Given the description of an element on the screen output the (x, y) to click on. 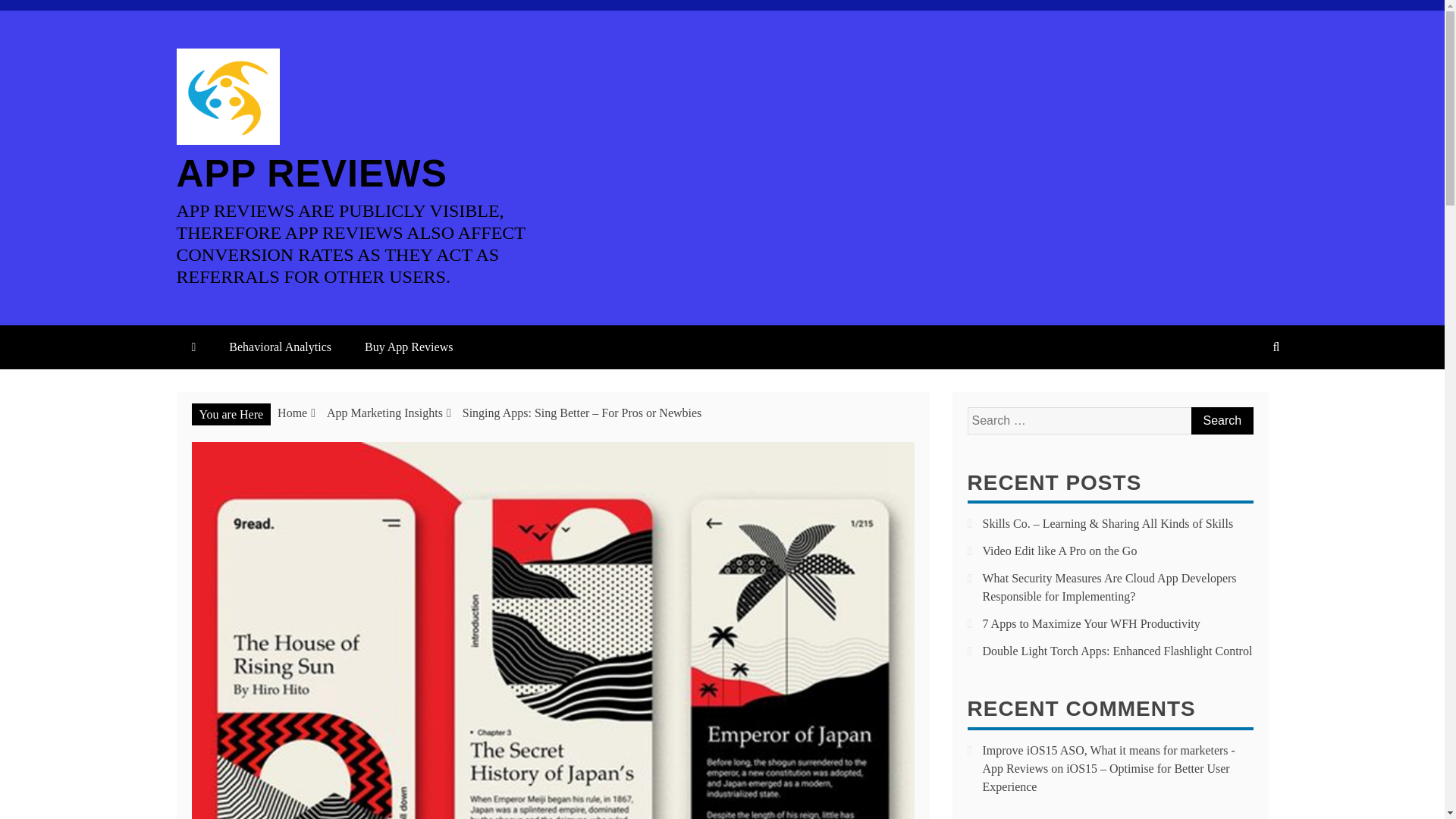
App Marketing Insights (384, 412)
Search (1221, 420)
Behavioral Analytics (280, 346)
Video Edit like A Pro on the Go (1059, 550)
Home (292, 412)
APP REVIEWS (311, 173)
Search (1221, 420)
Buy App Reviews (408, 346)
Search (1221, 420)
